Given the description of an element on the screen output the (x, y) to click on. 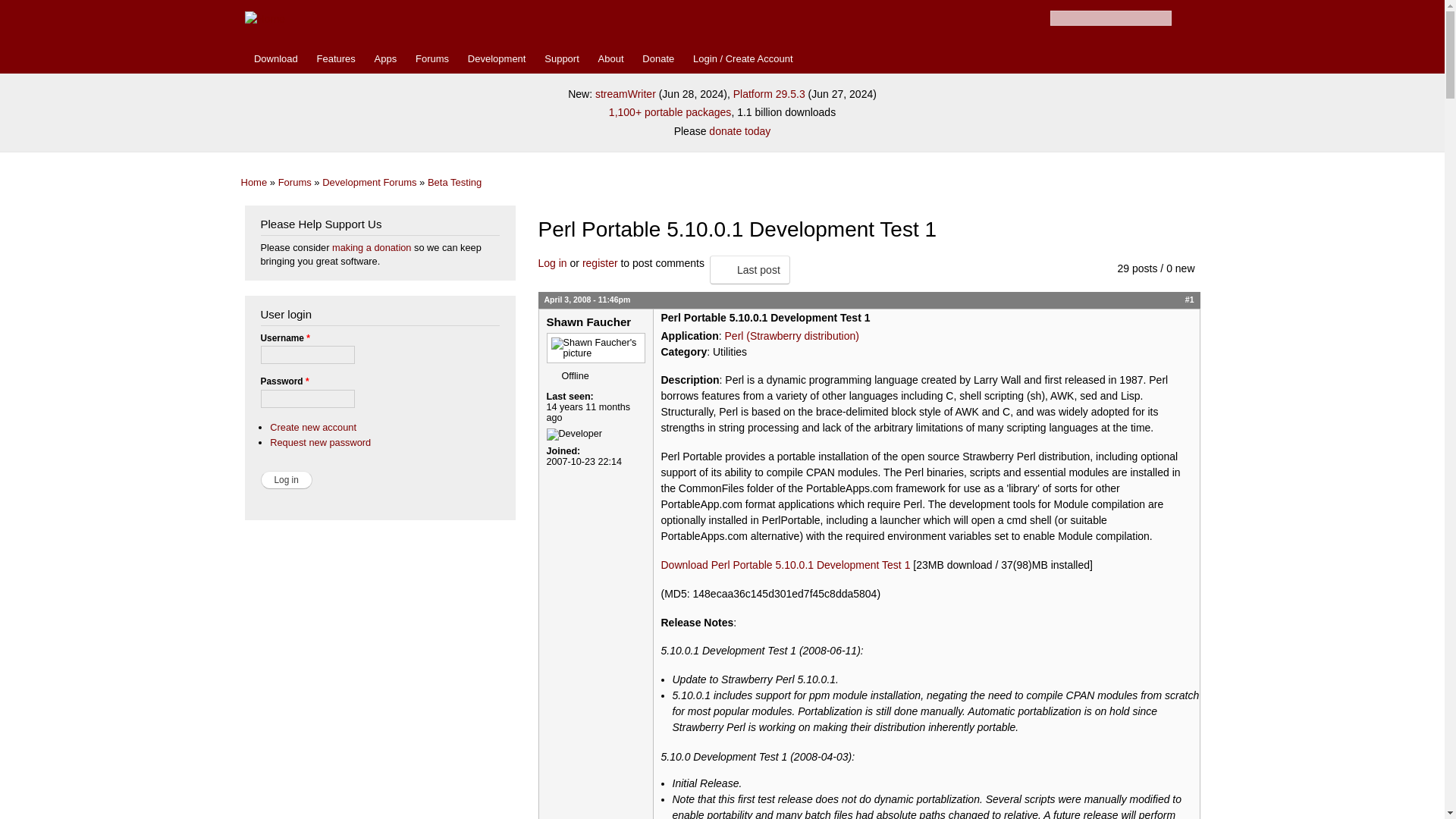
Platform 29.5.3 (769, 93)
Search (1182, 17)
streamWriter (625, 93)
Search (1182, 17)
register (599, 263)
Apps (385, 59)
Enter the terms you wish to search for. (1109, 17)
Portable App Directory (385, 59)
Development (496, 59)
Download the PortableApps.com Platform (275, 59)
Home (254, 182)
Development Forums (368, 182)
Log in (552, 263)
Forums (294, 182)
About (610, 59)
